Given the description of an element on the screen output the (x, y) to click on. 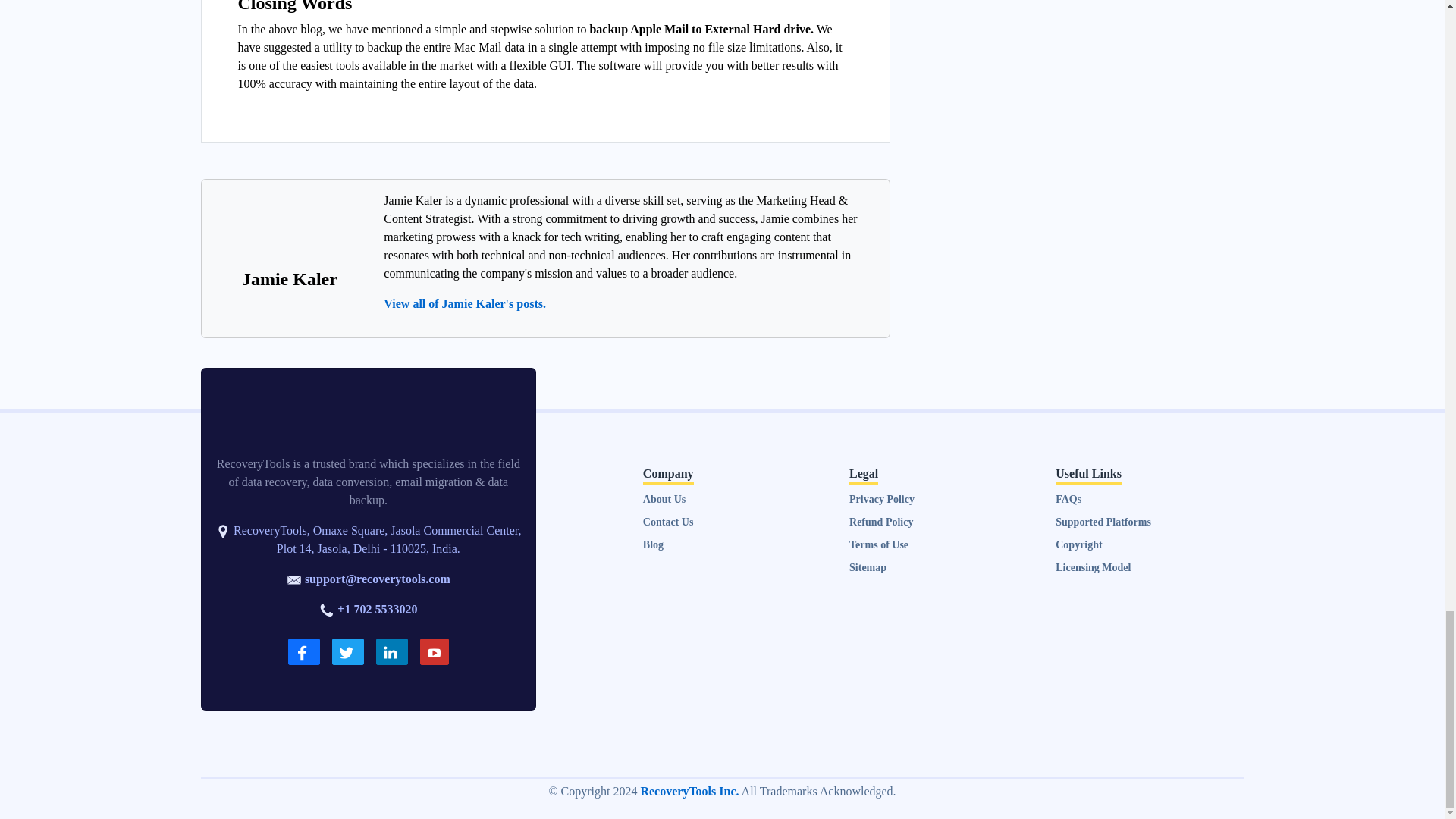
Terms of Use (878, 544)
Refund Policy (880, 521)
Blog (653, 544)
View all of Jamie Kaler's posts. (465, 303)
Contact Us (668, 521)
About Us (664, 499)
Privacy Policy (881, 499)
